Given the description of an element on the screen output the (x, y) to click on. 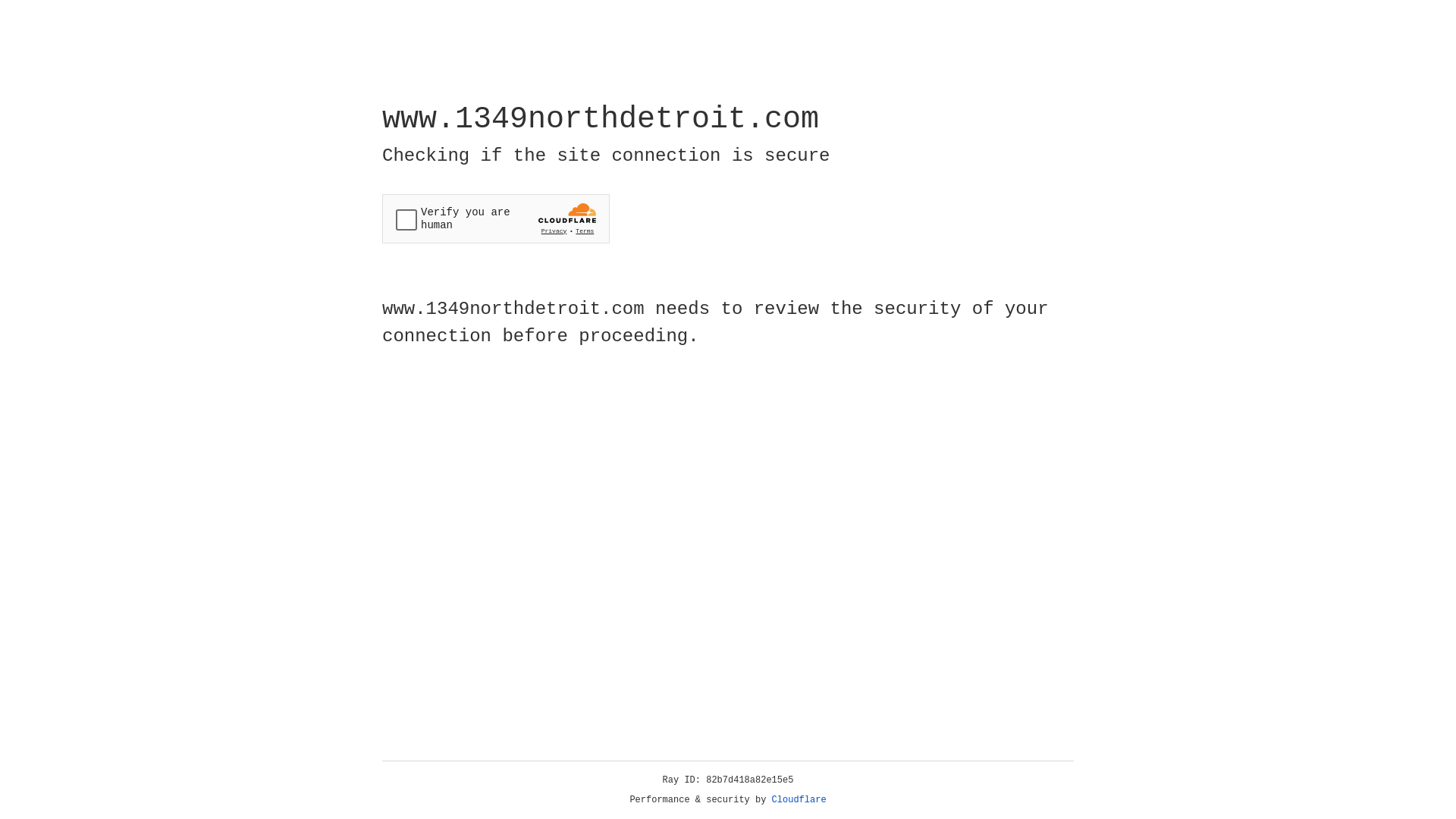
Widget containing a Cloudflare security challenge Element type: hover (495, 218)
Cloudflare Element type: text (798, 799)
